Given the description of an element on the screen output the (x, y) to click on. 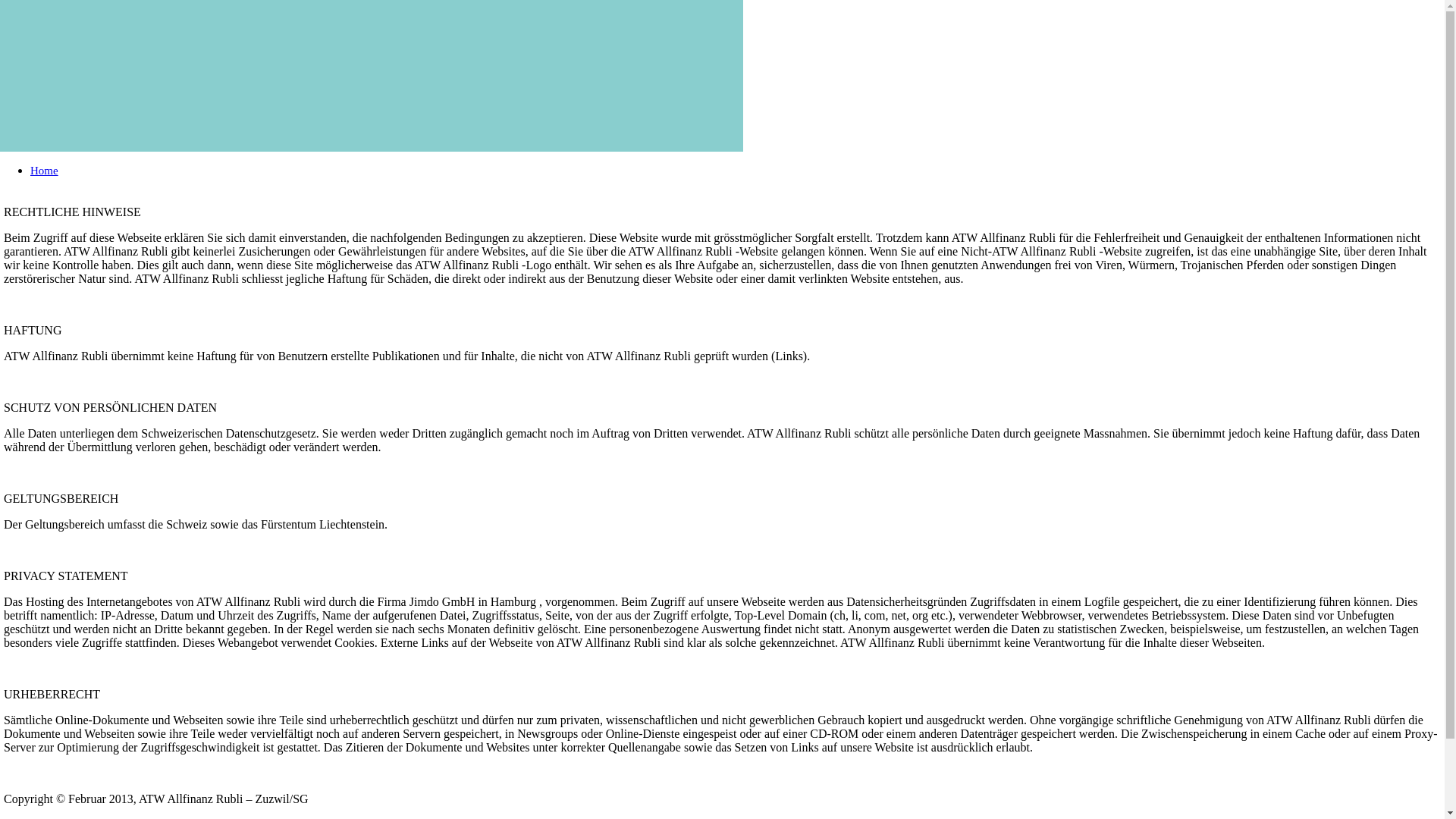
Home Element type: text (44, 170)
